Given the description of an element on the screen output the (x, y) to click on. 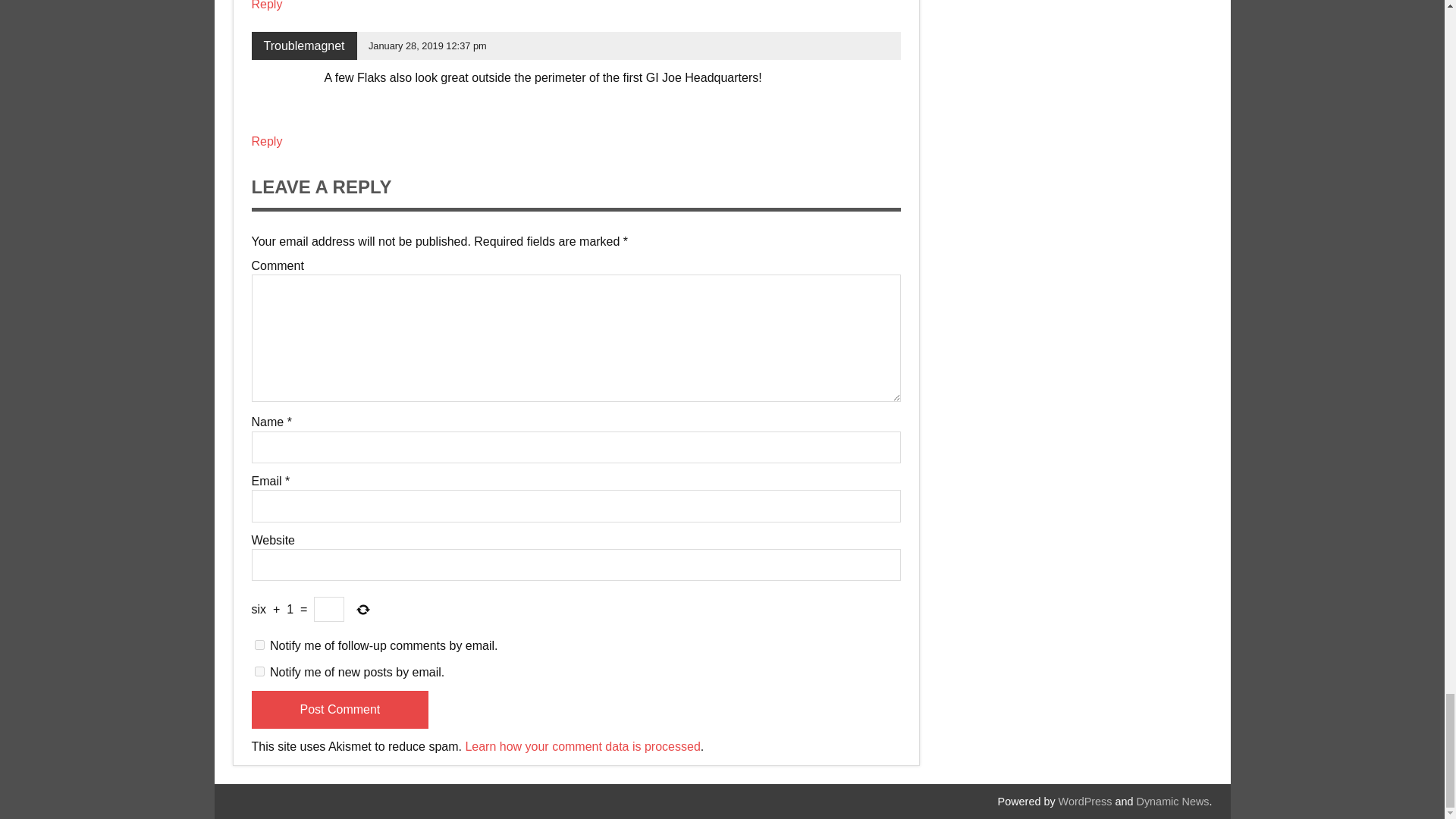
subscribe (259, 644)
WordPress (1085, 801)
Reply (266, 141)
subscribe (259, 671)
Reply (266, 5)
Learn how your comment data is processed (582, 746)
January 28, 2019 12:37 pm (427, 45)
Post Comment (340, 709)
Post Comment (340, 709)
Dynamic News WordPress Theme (1173, 801)
